Given the description of an element on the screen output the (x, y) to click on. 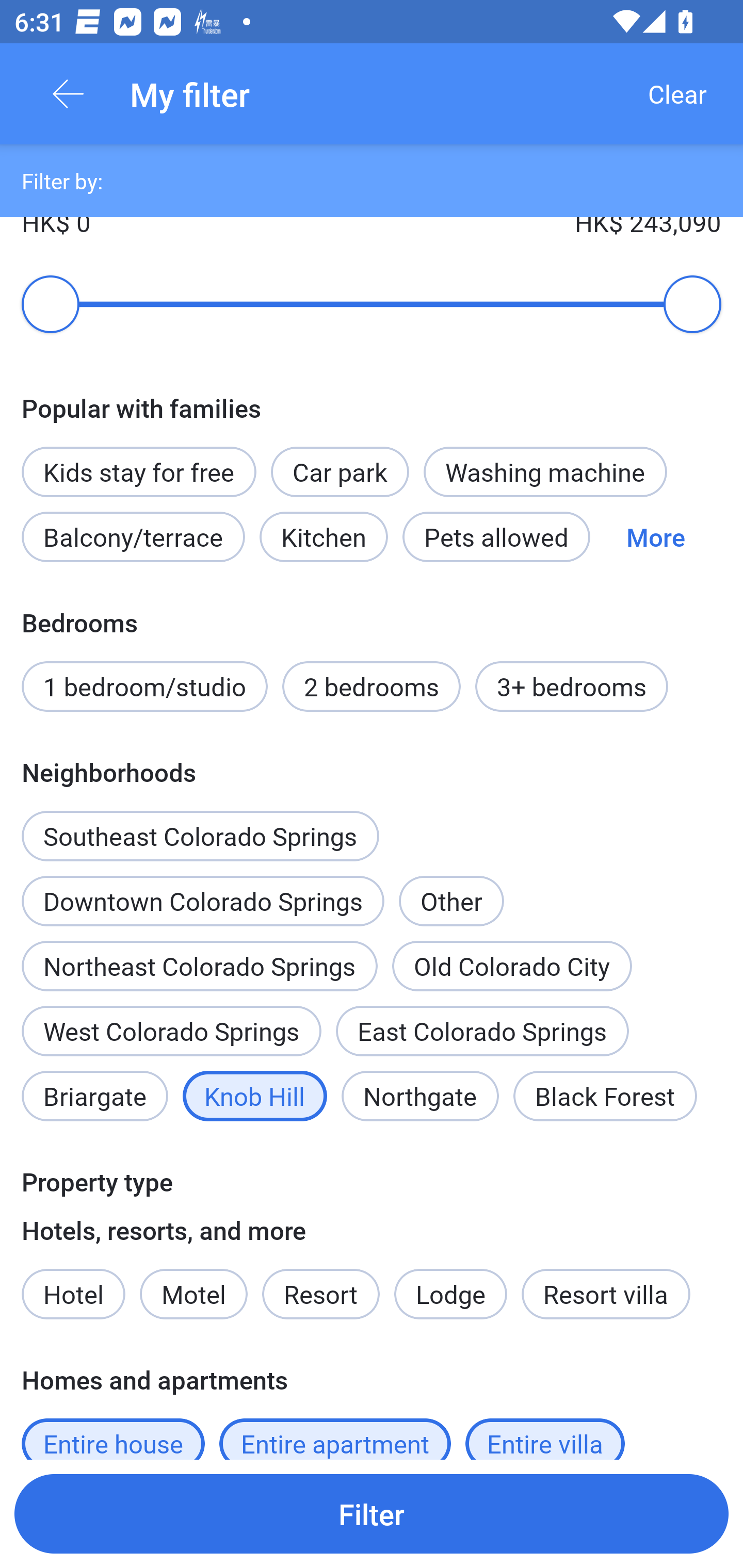
Clear (676, 93)
Kids stay for free (138, 471)
Car park (340, 471)
Washing machine (545, 471)
Balcony/terrace (133, 536)
Kitchen (323, 536)
Pets allowed (495, 536)
More (655, 536)
1 bedroom/studio (144, 685)
2 bedrooms (371, 685)
3+ bedrooms (571, 685)
Southeast Colorado Springs (199, 825)
Downtown Colorado Springs (202, 900)
Other (450, 889)
Northeast Colorado Springs (199, 965)
Old Colorado City (512, 965)
West Colorado Springs (171, 1030)
East Colorado Springs (482, 1030)
Briargate (94, 1095)
Northgate (420, 1095)
Black Forest (604, 1095)
Hotel (73, 1294)
Motel (193, 1294)
Resort (320, 1294)
Lodge (450, 1294)
Resort villa (605, 1294)
Filter (371, 1513)
